Given the description of an element on the screen output the (x, y) to click on. 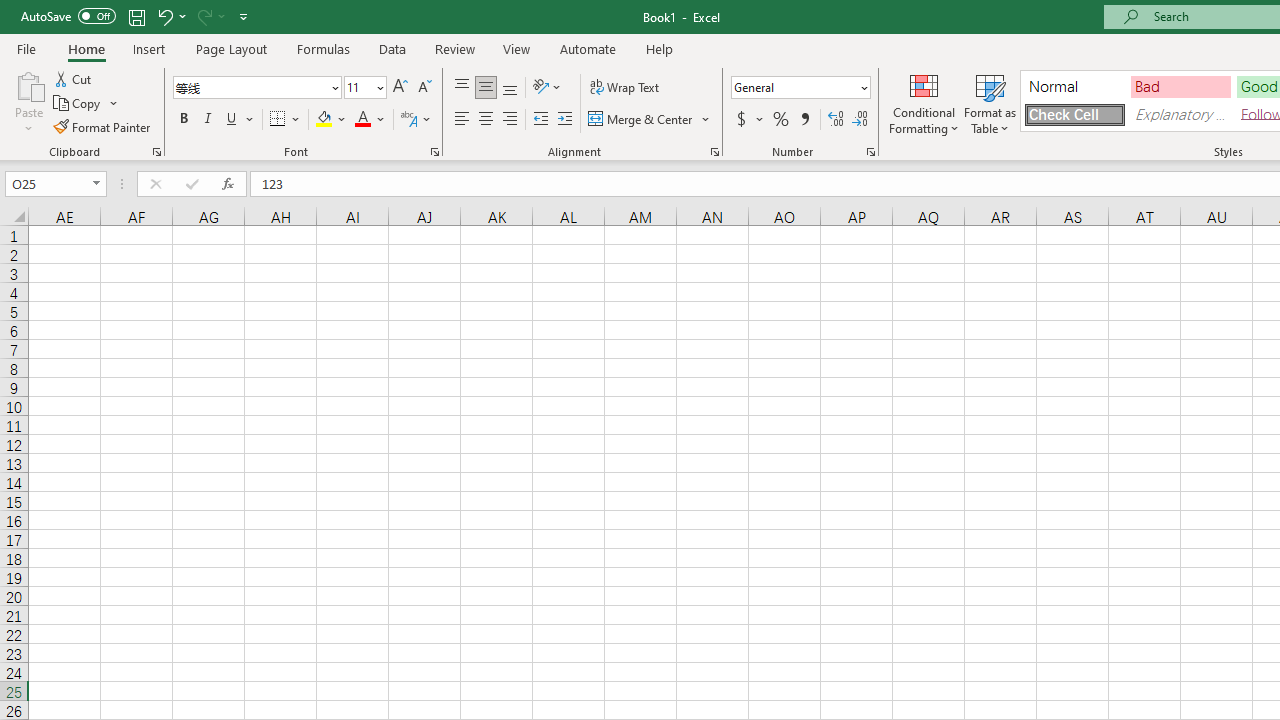
Decrease Indent (540, 119)
Fill Color RGB(255, 255, 0) (324, 119)
Increase Font Size (399, 87)
Merge & Center (641, 119)
Show Phonetic Field (416, 119)
Bottom Align (509, 87)
Decrease Decimal (859, 119)
Office Clipboard... (156, 151)
Underline (239, 119)
